Given the description of an element on the screen output the (x, y) to click on. 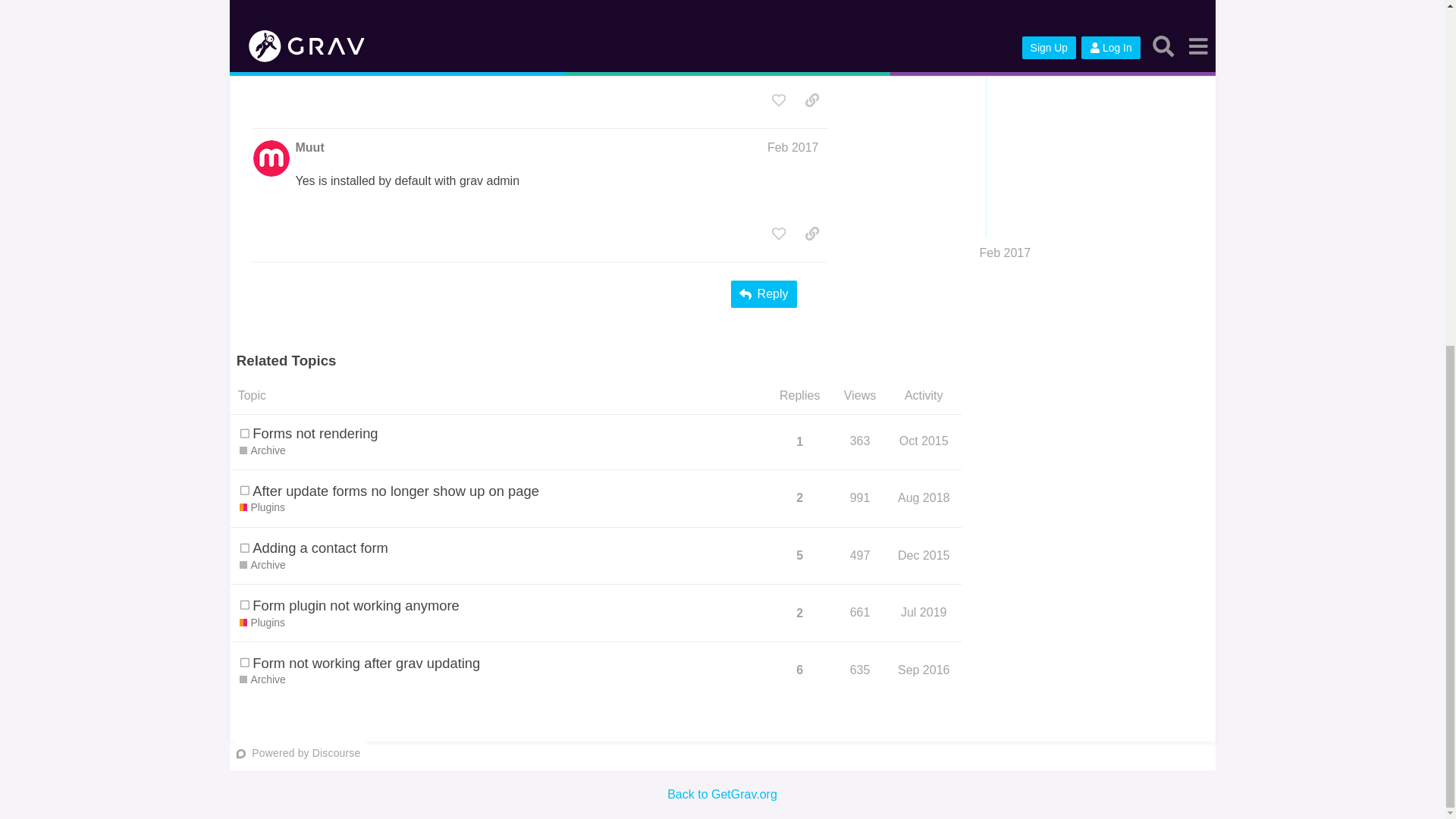
Archive (262, 450)
Muut (309, 13)
Forms not rendering (314, 433)
Muut (309, 147)
Aug 2018 (923, 497)
Feb 2017 (792, 12)
Oct 2015 (923, 440)
like this post (778, 99)
Reply (763, 293)
copy a link to this post to clipboard (812, 99)
